Given the description of an element on the screen output the (x, y) to click on. 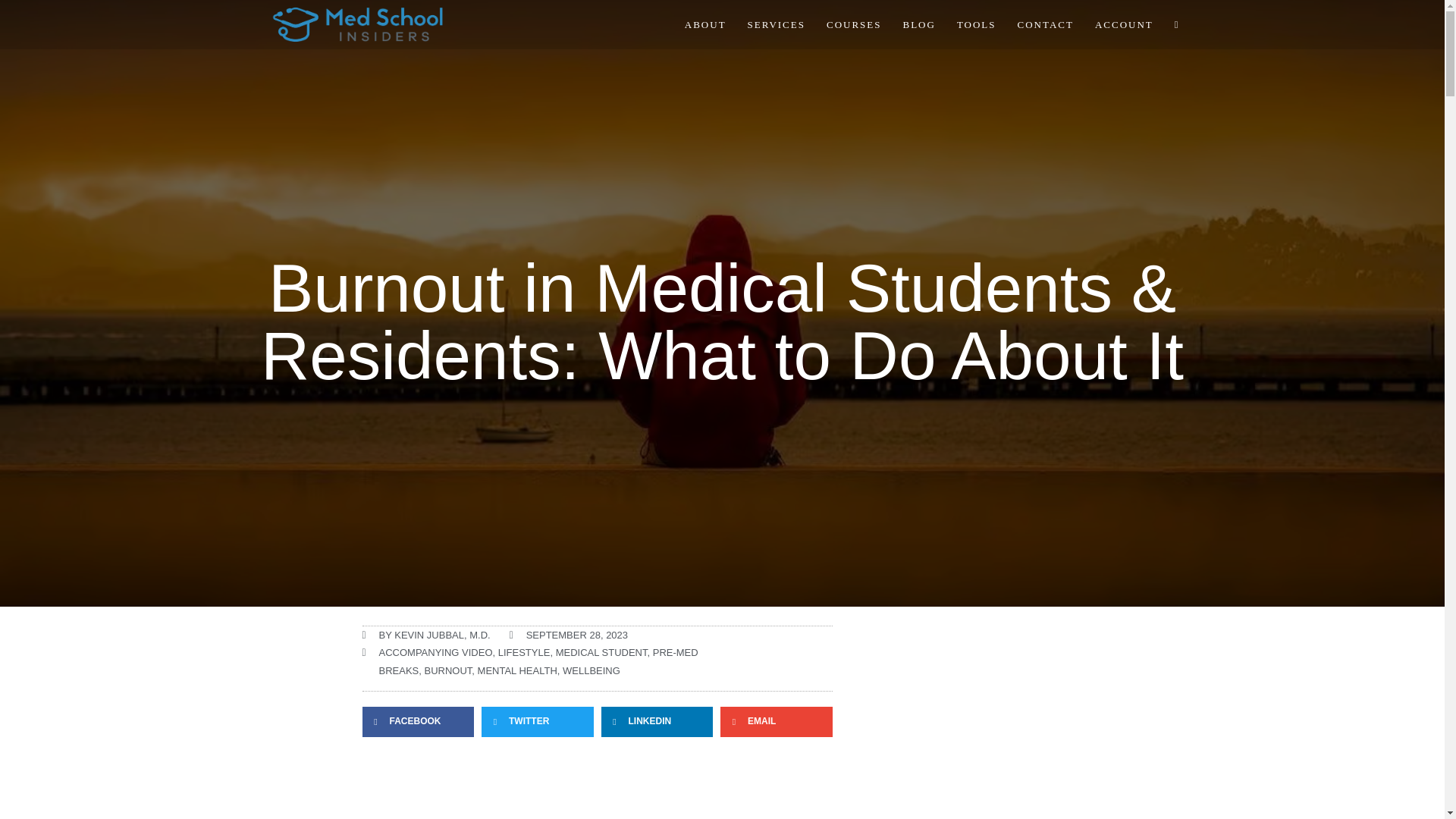
COURSES (853, 24)
ABOUT (705, 24)
SERVICES (775, 24)
